Given the description of an element on the screen output the (x, y) to click on. 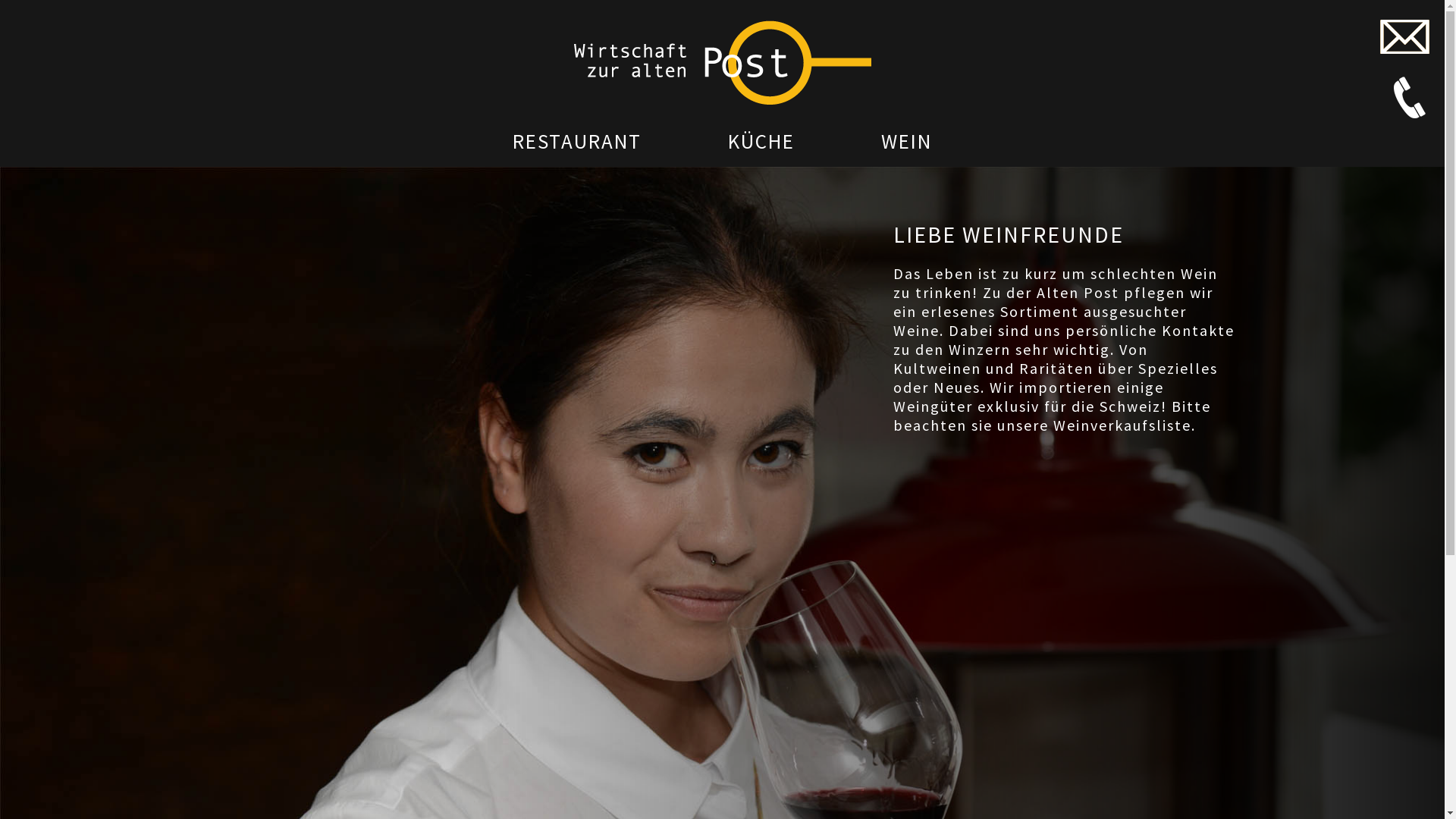
RESTAURANT Element type: text (576, 140)
WEIN Element type: text (906, 140)
